Given the description of an element on the screen output the (x, y) to click on. 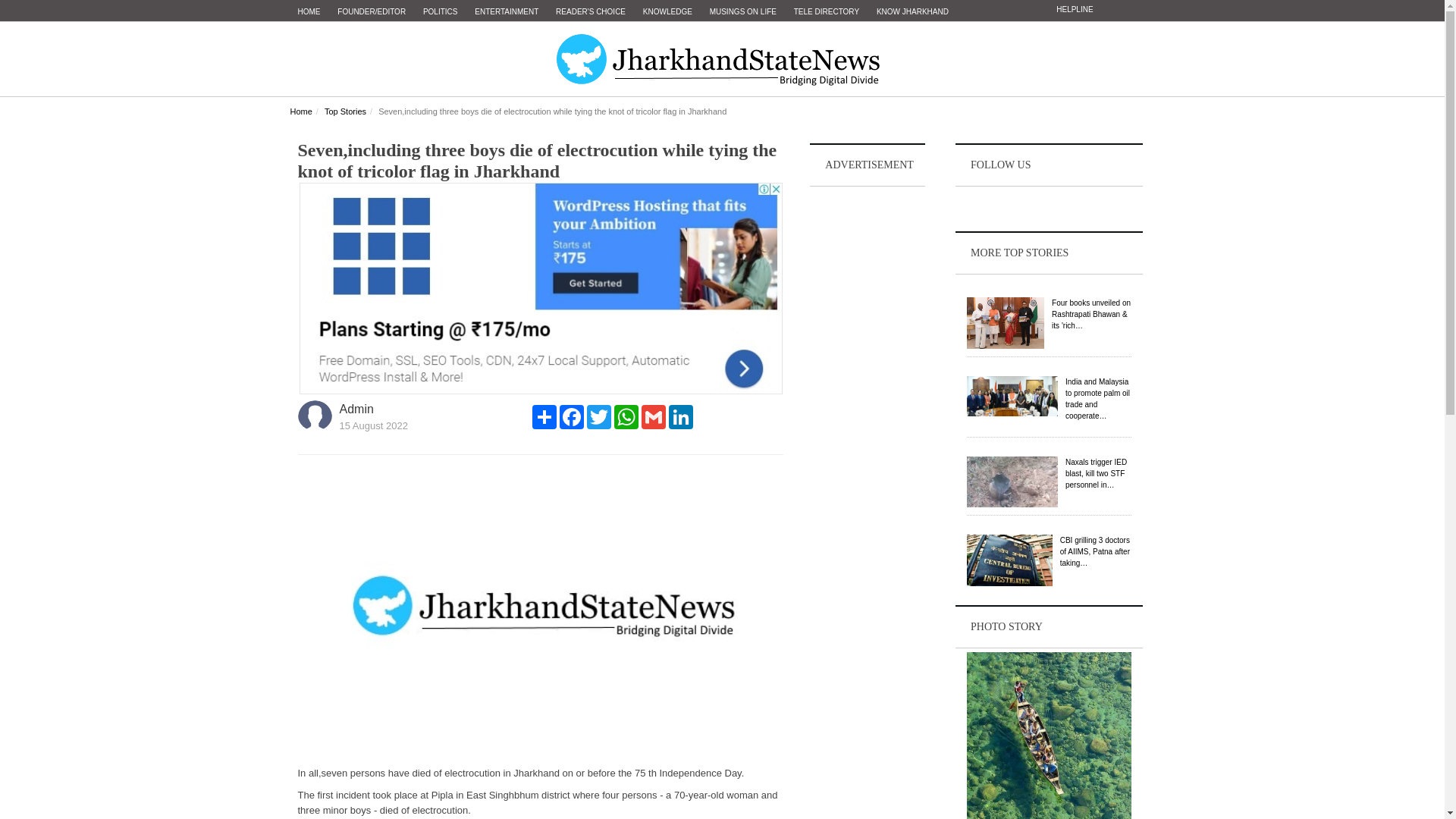
Gmail (653, 416)
HOME (308, 11)
ENTERTAINMENT (506, 11)
Top Stories (345, 111)
READER'S CHOICE (590, 11)
Home (300, 111)
KNOWLEDGE (667, 11)
HELPLINE (1074, 9)
Twitter (598, 416)
POLITICS (439, 11)
LinkedIn (680, 416)
MUSINGS ON LIFE (742, 11)
WhatsApp (626, 416)
KNOW JHARKHAND (912, 11)
TELE DIRECTORY (826, 11)
